Given the description of an element on the screen output the (x, y) to click on. 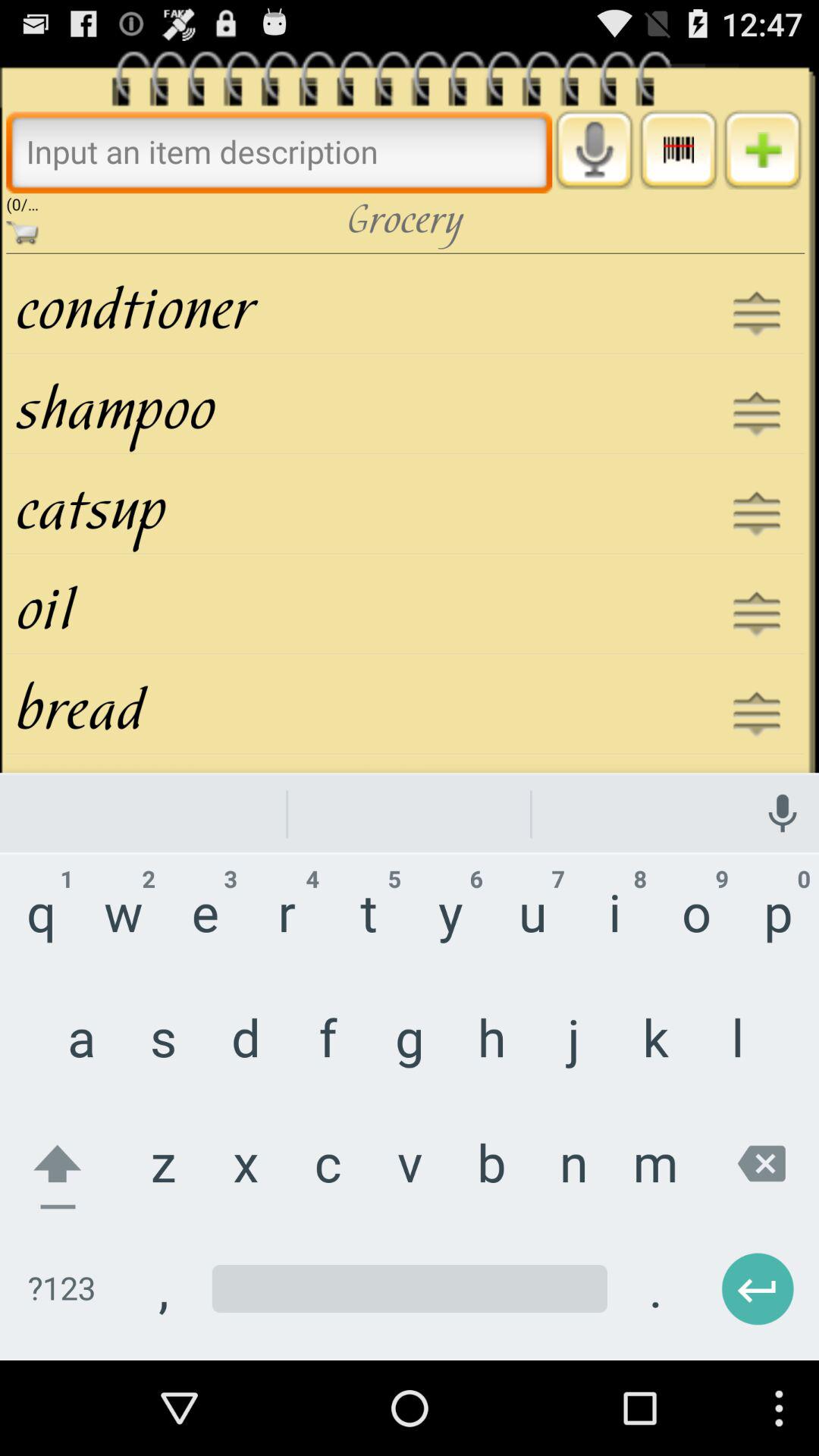
add item button (762, 149)
